Given the description of an element on the screen output the (x, y) to click on. 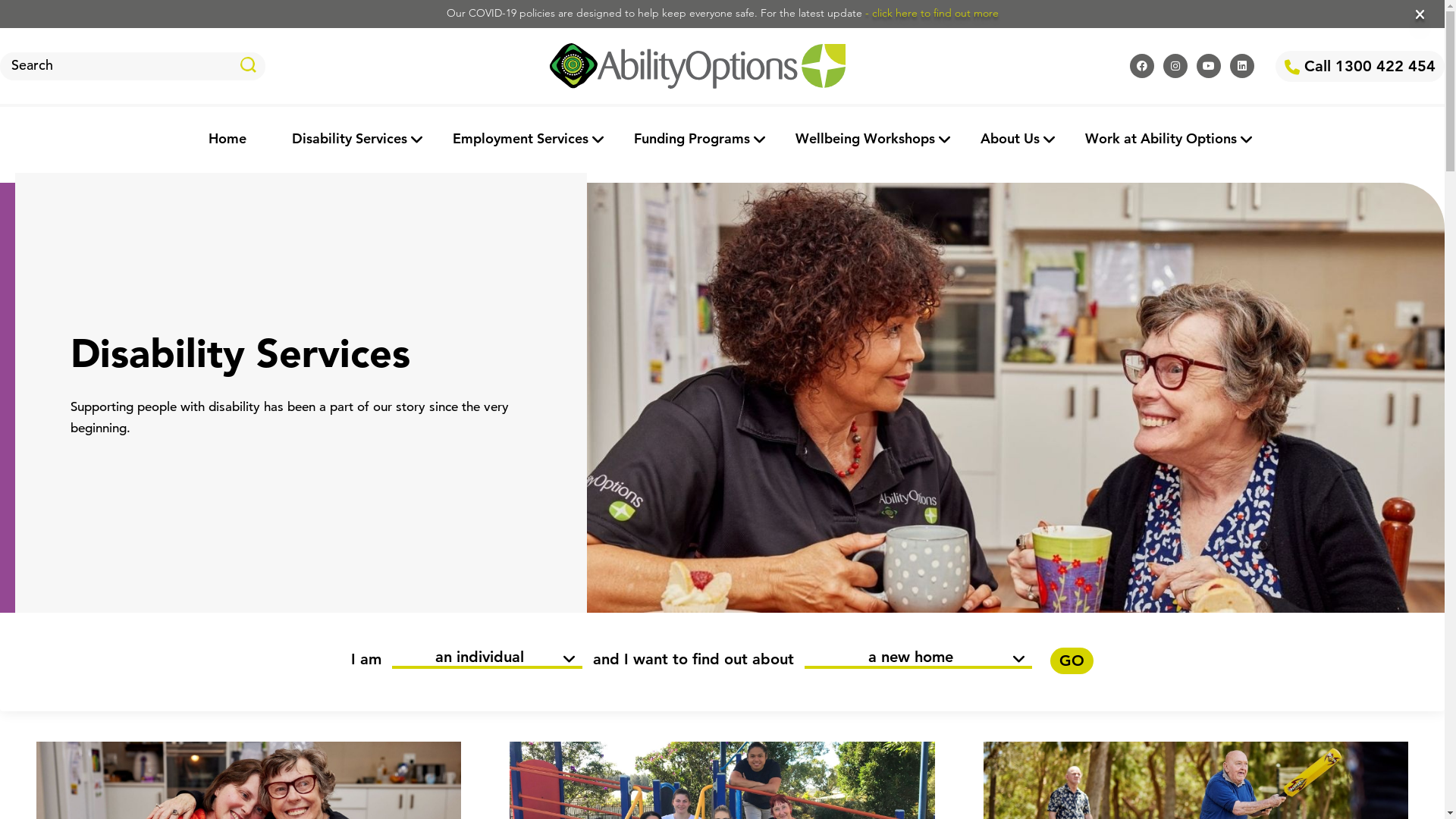
GO Element type: text (1071, 660)
Disability Services Element type: text (348, 139)
- click here to find out more Element type: text (930, 13)
About Us Element type: text (1008, 139)
Wellbeing Workshops Element type: text (864, 139)
Call 1300 422 454 Element type: text (1359, 65)
Work at Ability Options Element type: text (1160, 139)
search Element type: text (248, 64)
Funding Programs Element type: text (691, 139)
Employment Services Element type: text (519, 139)
Home Element type: text (226, 139)
